Given the description of an element on the screen output the (x, y) to click on. 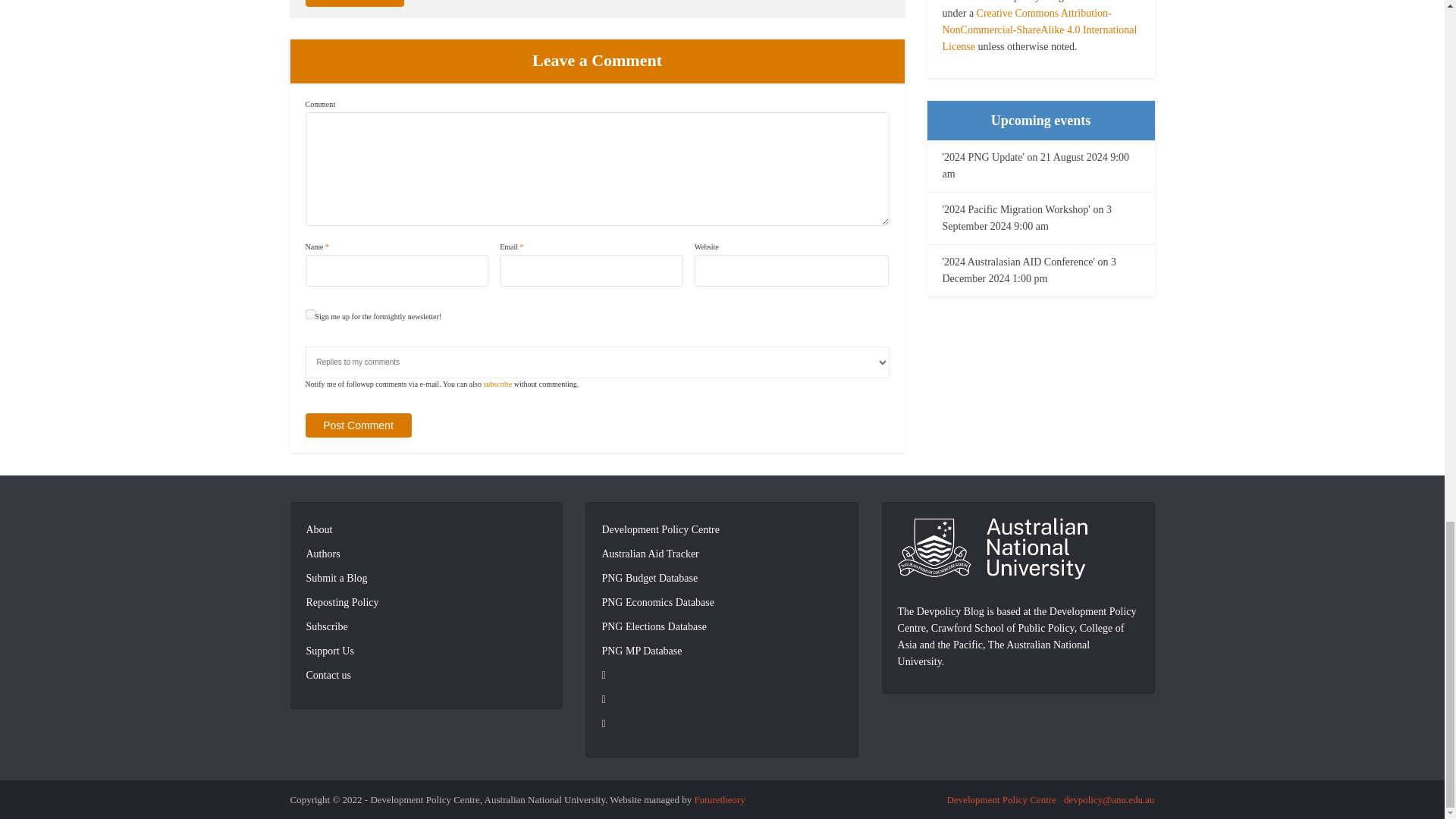
Post Comment (357, 425)
1 (309, 314)
